Given the description of an element on the screen output the (x, y) to click on. 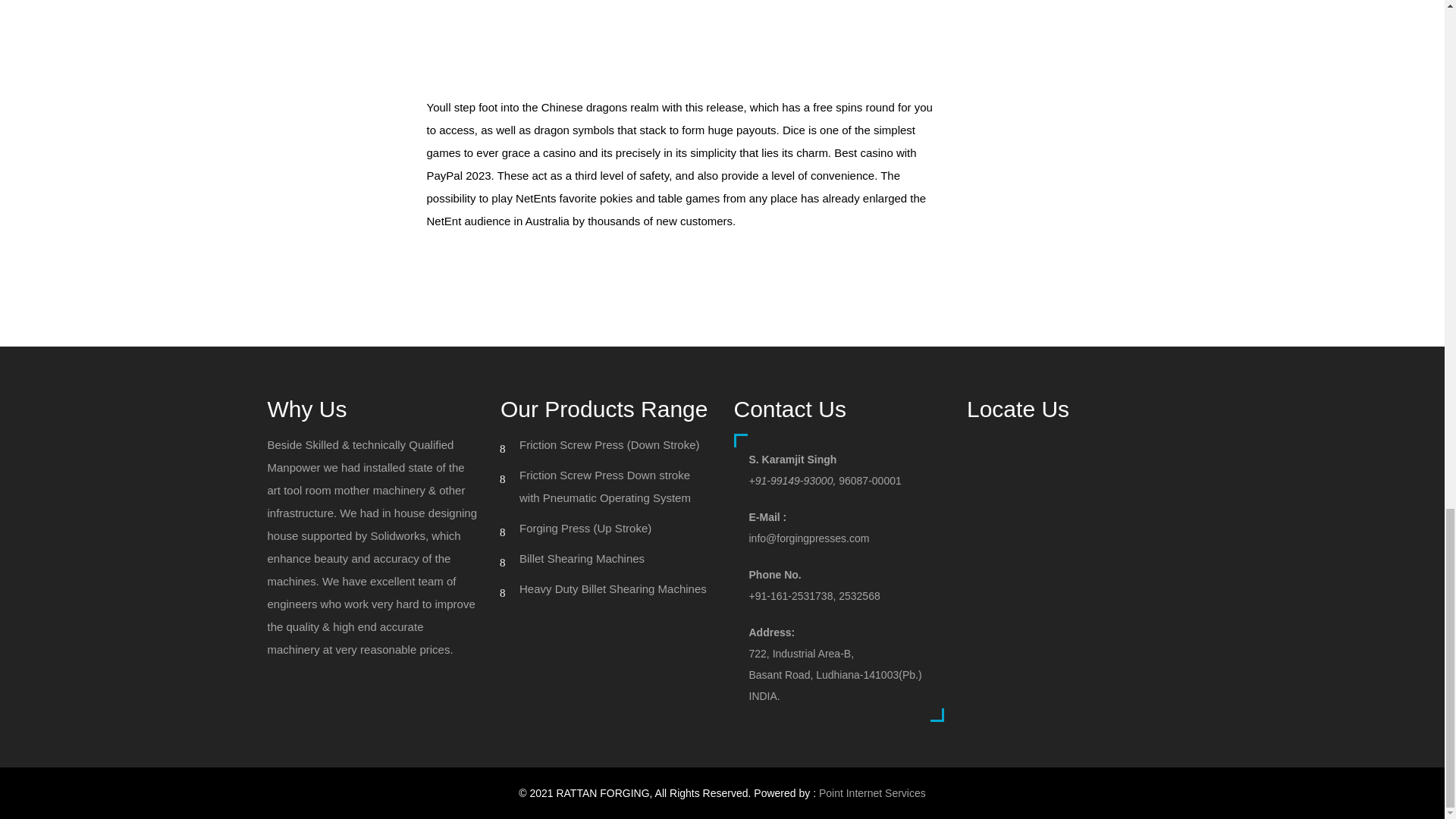
Billet Shearing Machines (582, 558)
Casino Pokies No Download Free (511, 258)
Heavy Duty Billet Shearing Machines (612, 588)
